Given the description of an element on the screen output the (x, y) to click on. 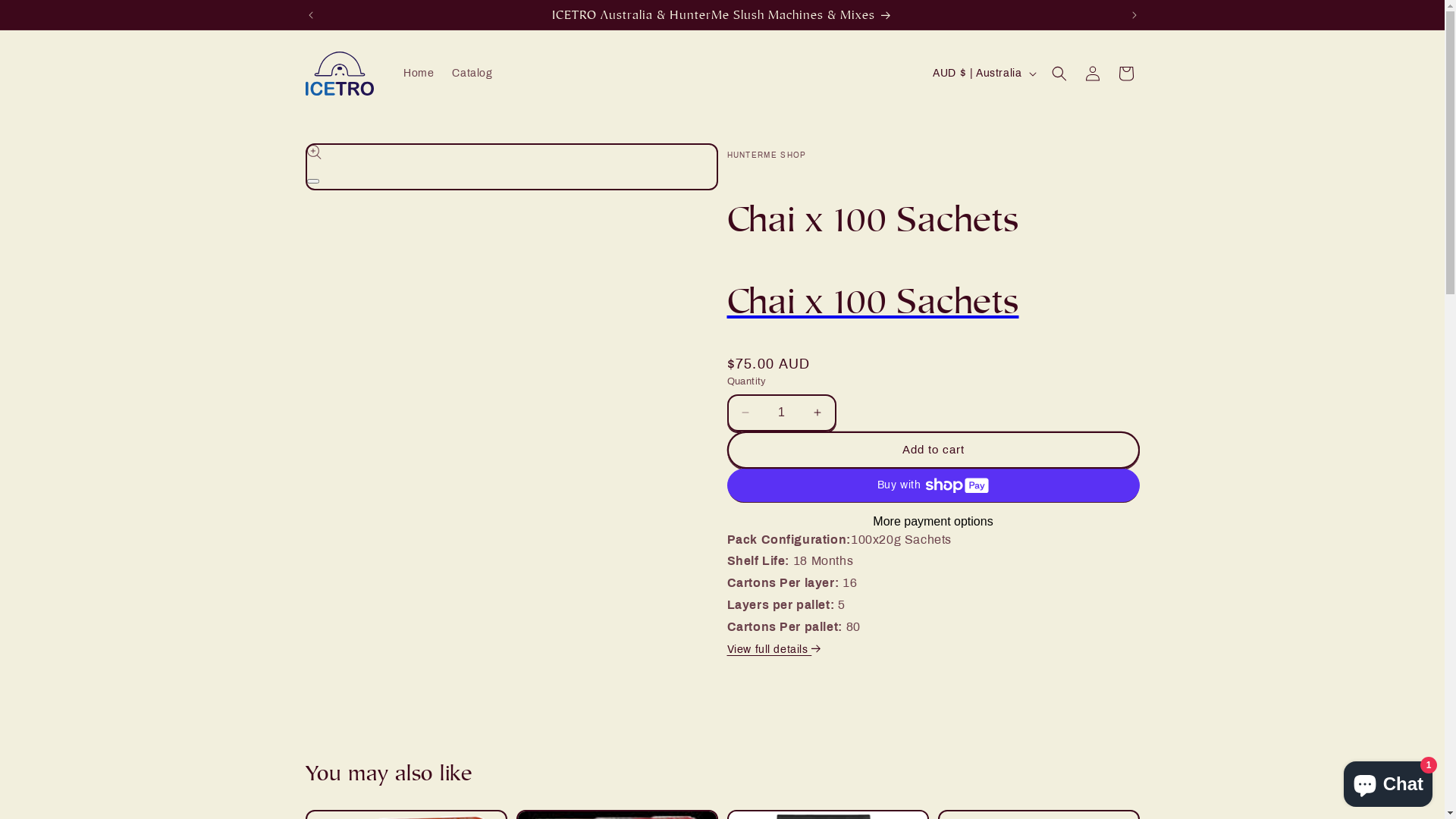
Chai x 100 Sachets Element type: text (932, 300)
Skip to product information Element type: text (351, 160)
Open media 1 in modal Element type: text (312, 180)
AUD $ | Australia Element type: text (982, 73)
More payment options Element type: text (932, 521)
Cart Element type: text (1125, 73)
ICETRO Australia & HunterMe Slush Machines & Mixes Element type: text (722, 14)
Home Element type: text (418, 73)
Catalog Element type: text (471, 73)
Increase quantity for Chai x 100 Sachets Element type: text (817, 412)
Add to cart Element type: text (932, 449)
Shopify online store chat Element type: hover (1388, 780)
Decrease quantity for Chai x 100 Sachets Element type: text (745, 412)
View full details Element type: text (774, 649)
Log in Element type: text (1091, 73)
